Given the description of an element on the screen output the (x, y) to click on. 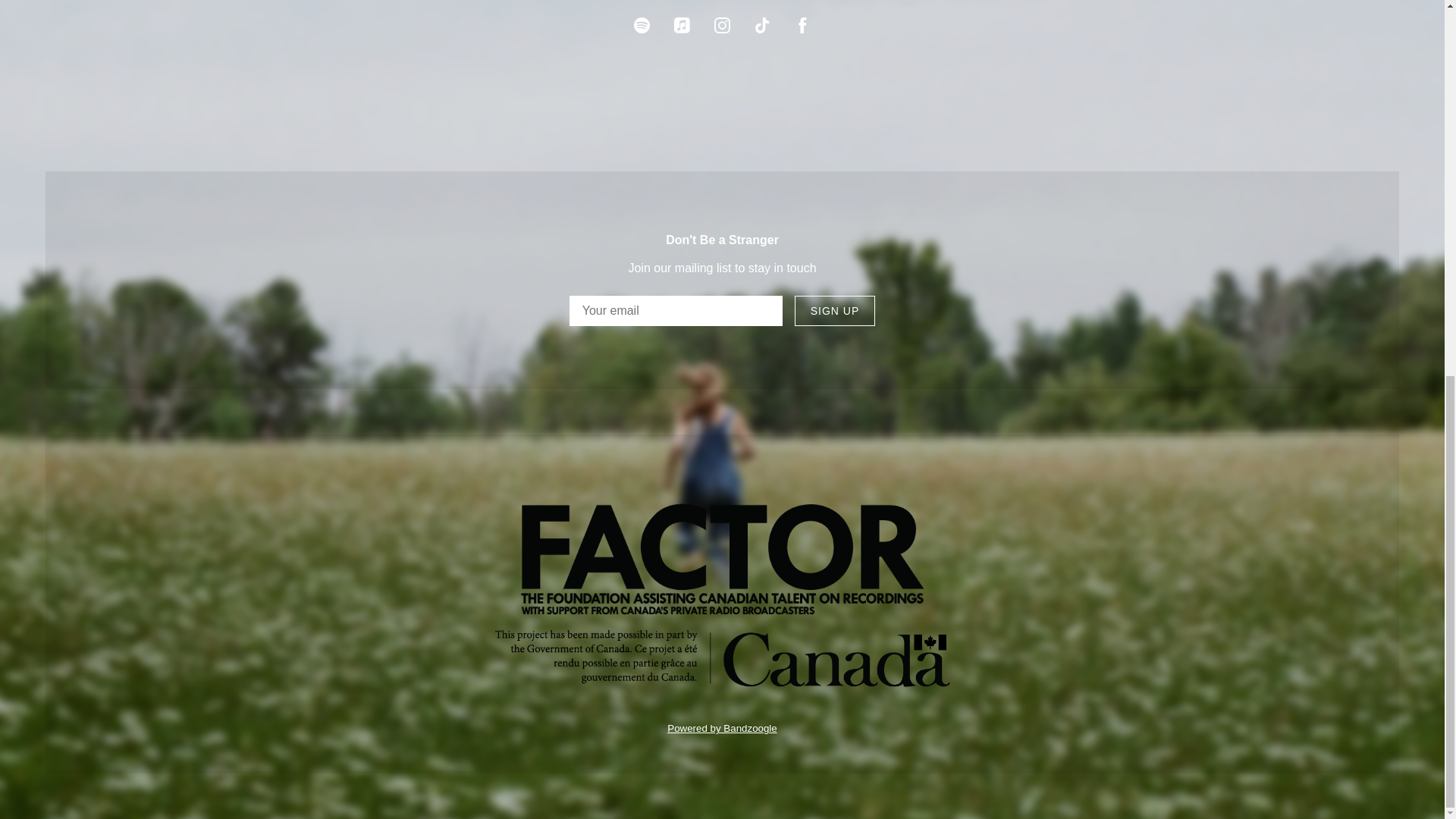
Powered by Bandzoogle (721, 727)
SIGN UP (835, 310)
Powered by Bandzoogle (721, 727)
